Given the description of an element on the screen output the (x, y) to click on. 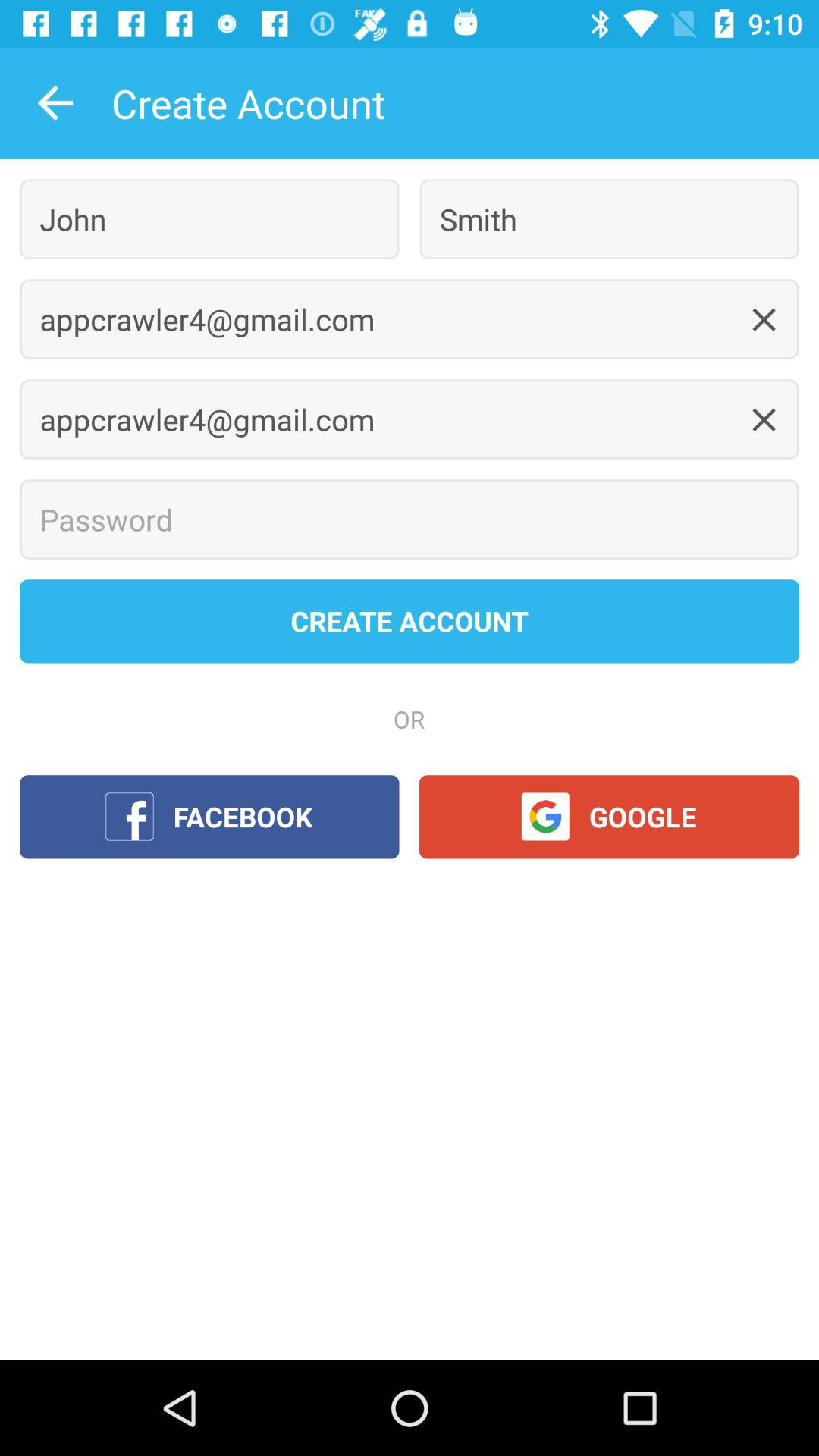
jump until the smith (609, 219)
